Given the description of an element on the screen output the (x, y) to click on. 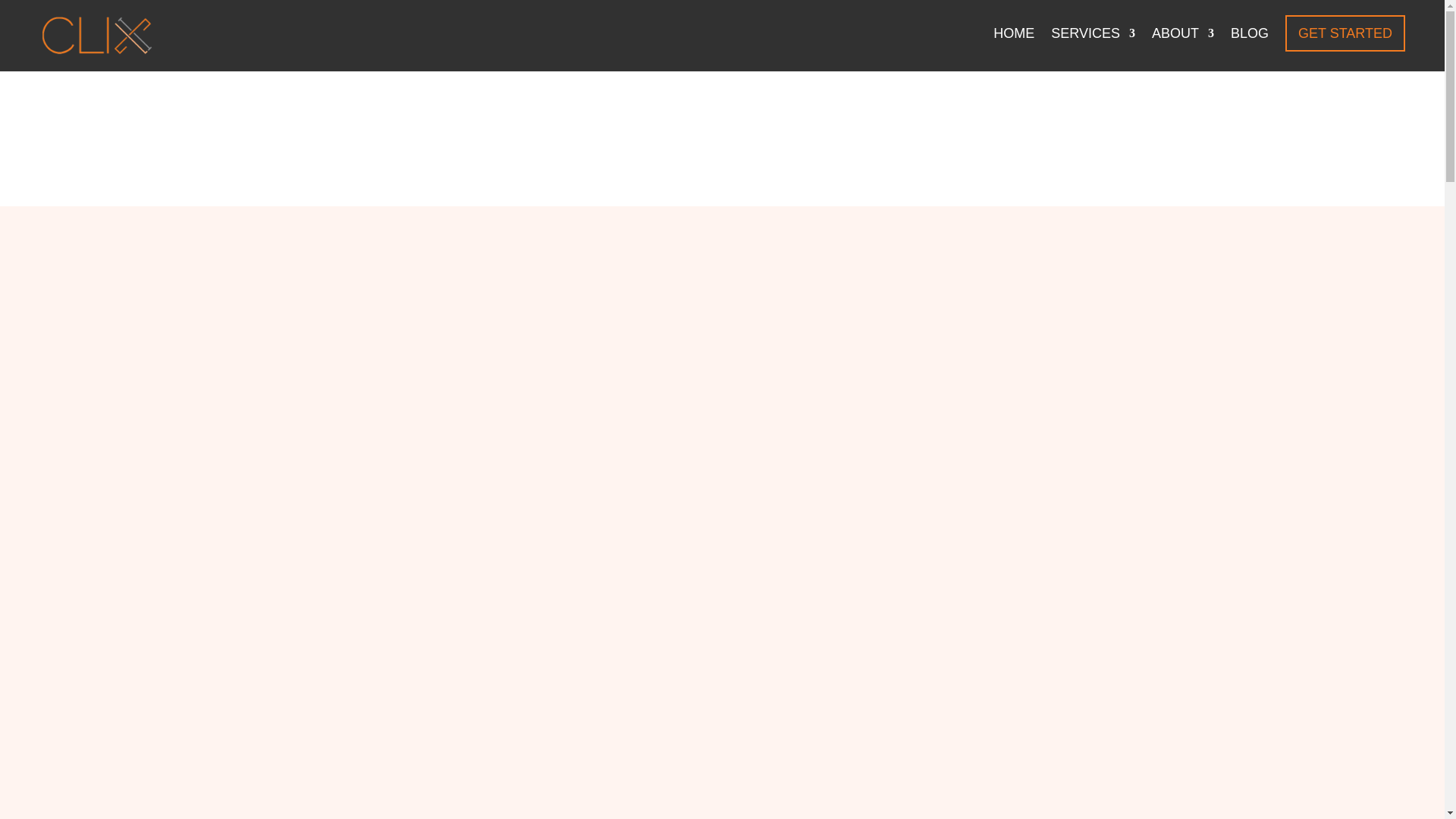
SERVICES (1093, 45)
HOME (1012, 45)
Search (1274, 465)
BLOG (1249, 45)
Subscribe (1128, 398)
ABOUT (1182, 45)
GET STARTED (1345, 33)
